Given the description of an element on the screen output the (x, y) to click on. 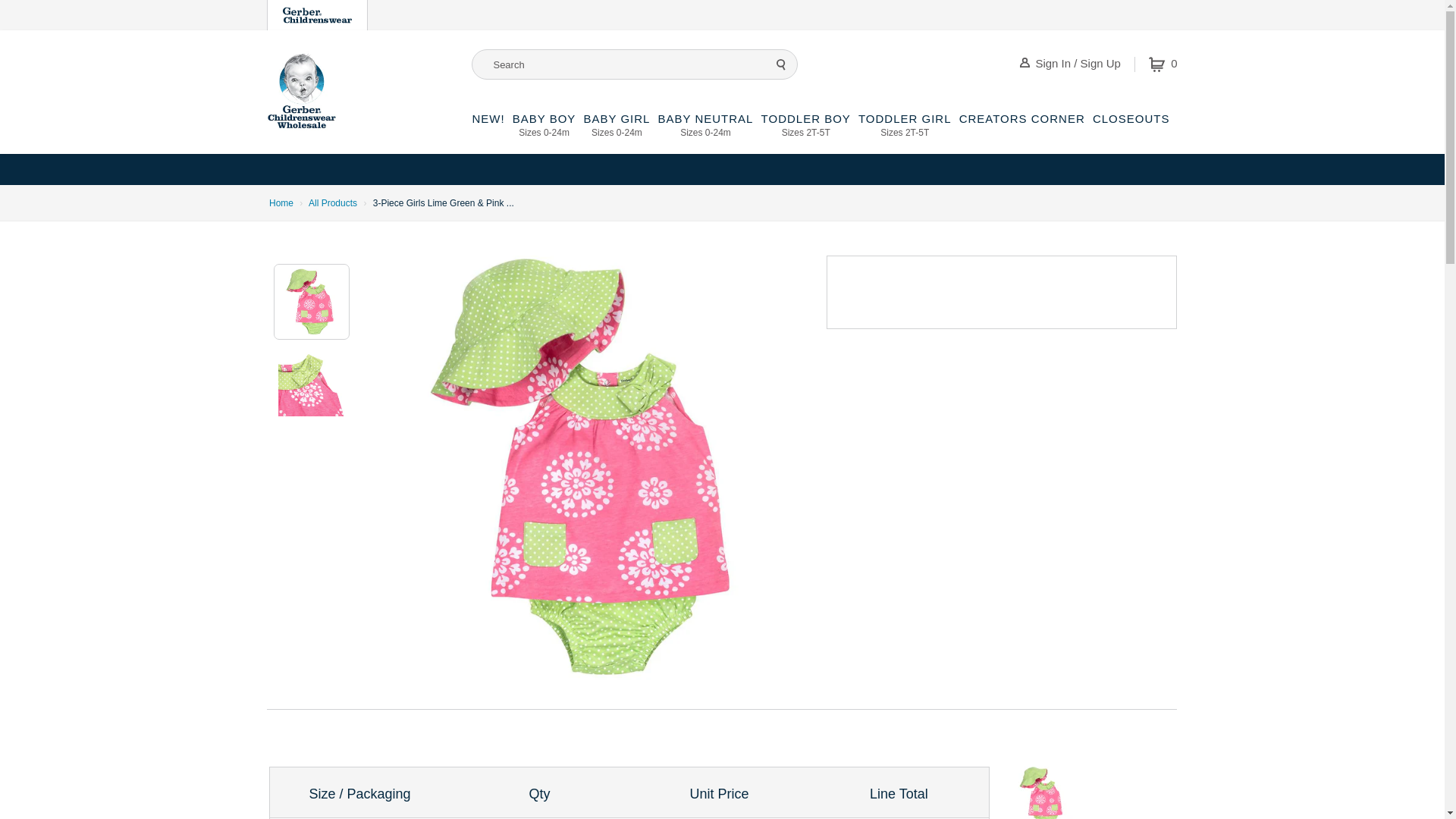
Search (544, 132)
Home (1162, 64)
Gerber Childrenswear (780, 64)
